Given the description of an element on the screen output the (x, y) to click on. 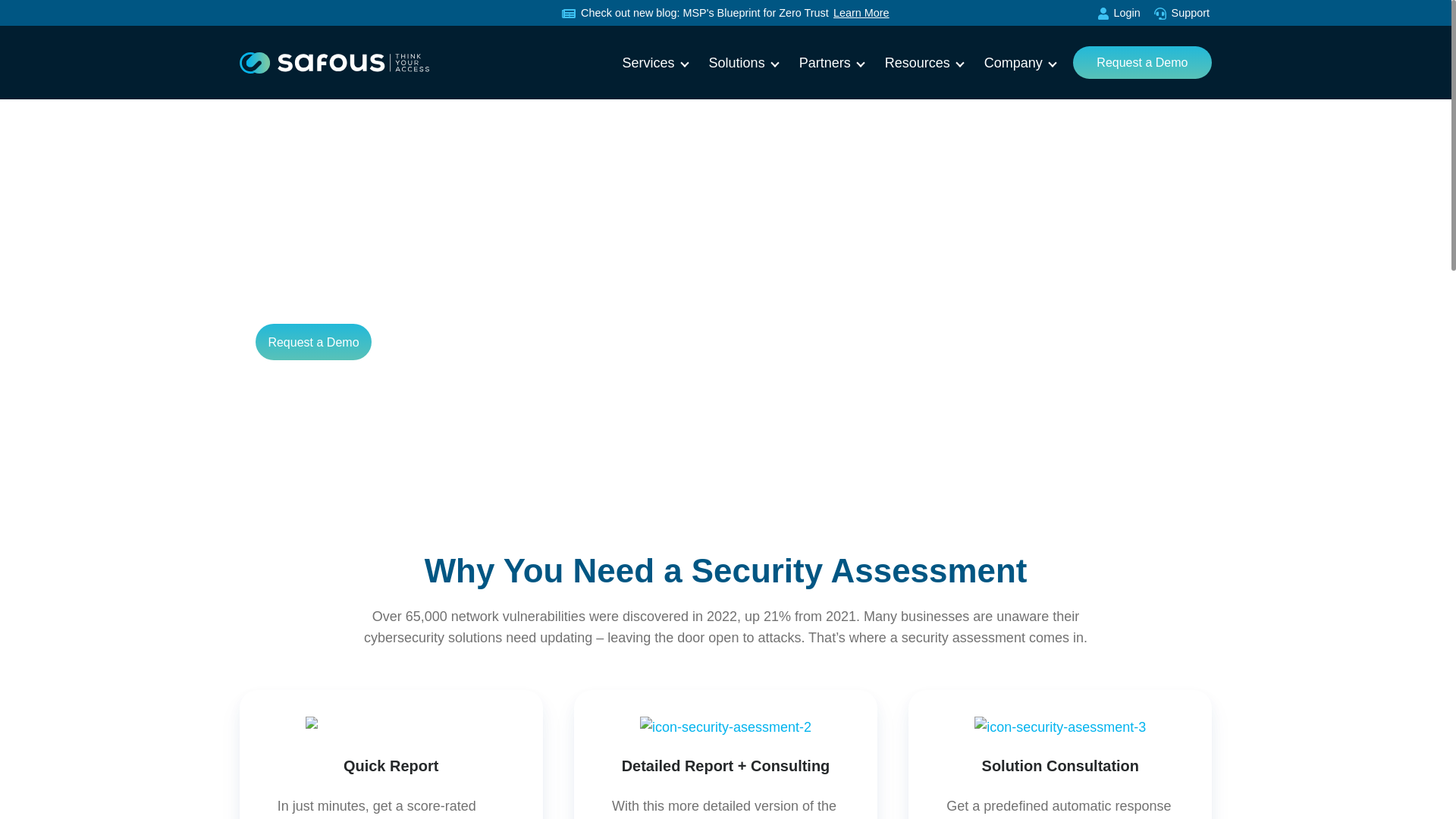
Request a Demo (1142, 61)
Services (649, 62)
Solutions (737, 62)
safous-logo (334, 62)
Learn More (860, 12)
Partners (824, 62)
Company (1013, 62)
Login (1118, 12)
Request a Demo (313, 341)
Resources (917, 62)
Support (1181, 12)
